Given the description of an element on the screen output the (x, y) to click on. 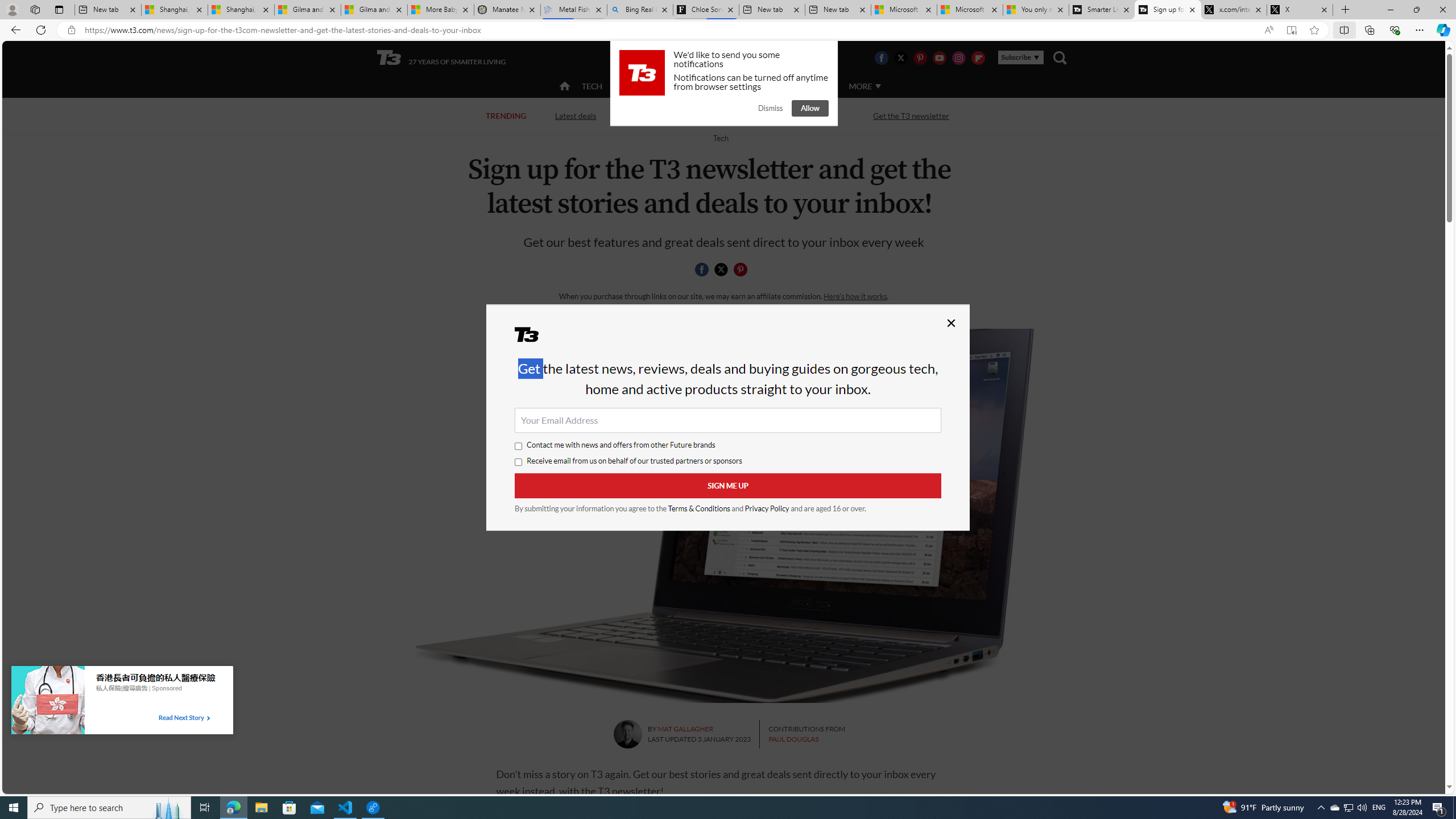
Subscribe (1020, 56)
Dismiss (770, 107)
Gilma and Hector both pose tropical trouble for Hawaii (374, 9)
Chloe Sorvino (706, 9)
Share this page on Pintrest (739, 269)
Visit us on Flipboard (978, 57)
UK Edition (736, 57)
